Given the description of an element on the screen output the (x, y) to click on. 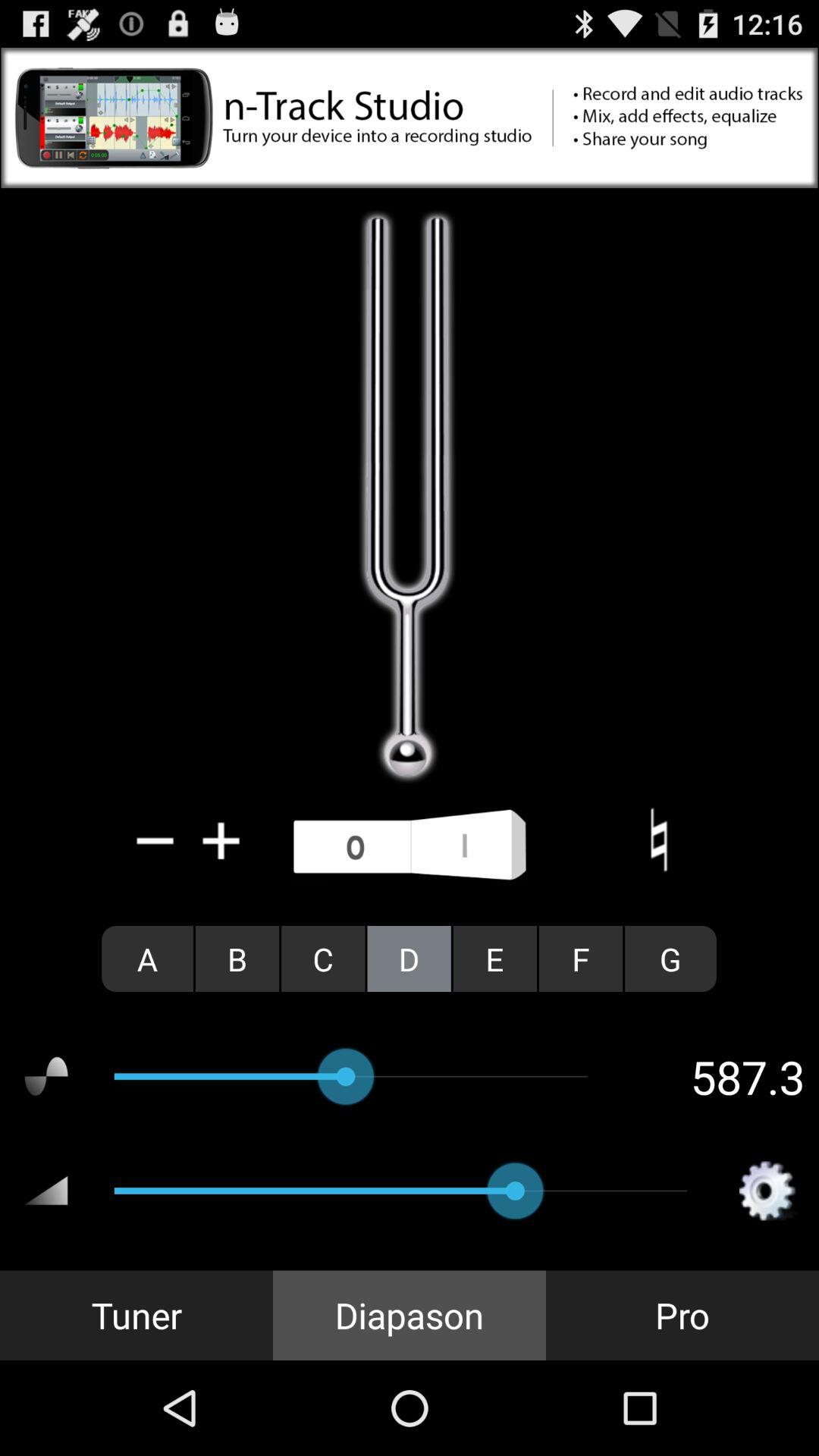
minus (155, 840)
